Given the description of an element on the screen output the (x, y) to click on. 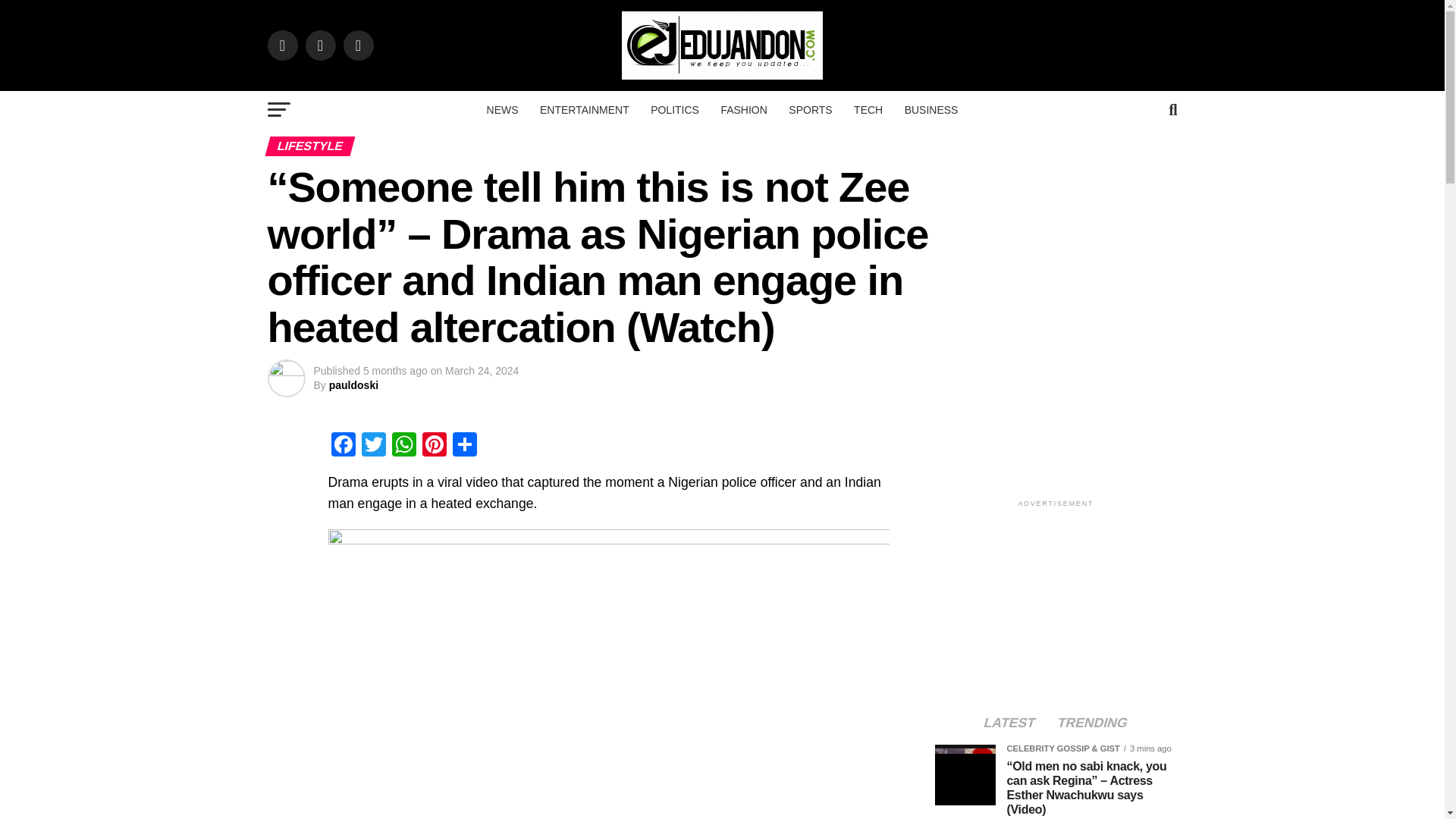
Facebook (342, 446)
FASHION (743, 109)
POLITICS (674, 109)
WhatsApp (403, 446)
Posts by pauldoski (353, 385)
NEWS (502, 109)
Twitter (373, 446)
Pinterest (433, 446)
ENTERTAINMENT (585, 109)
